Given the description of an element on the screen output the (x, y) to click on. 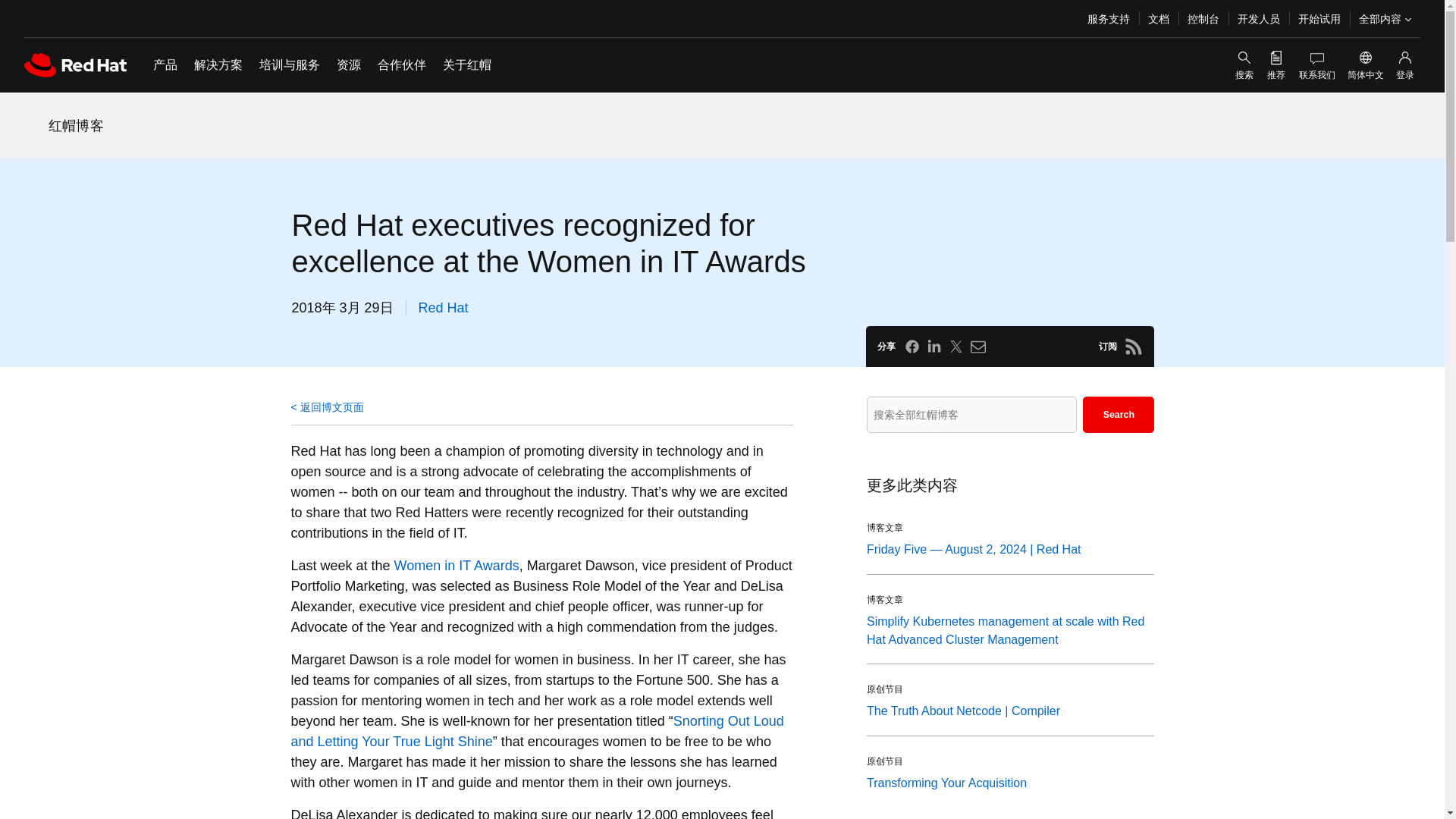
See more by Red Hat (443, 307)
